Given the description of an element on the screen output the (x, y) to click on. 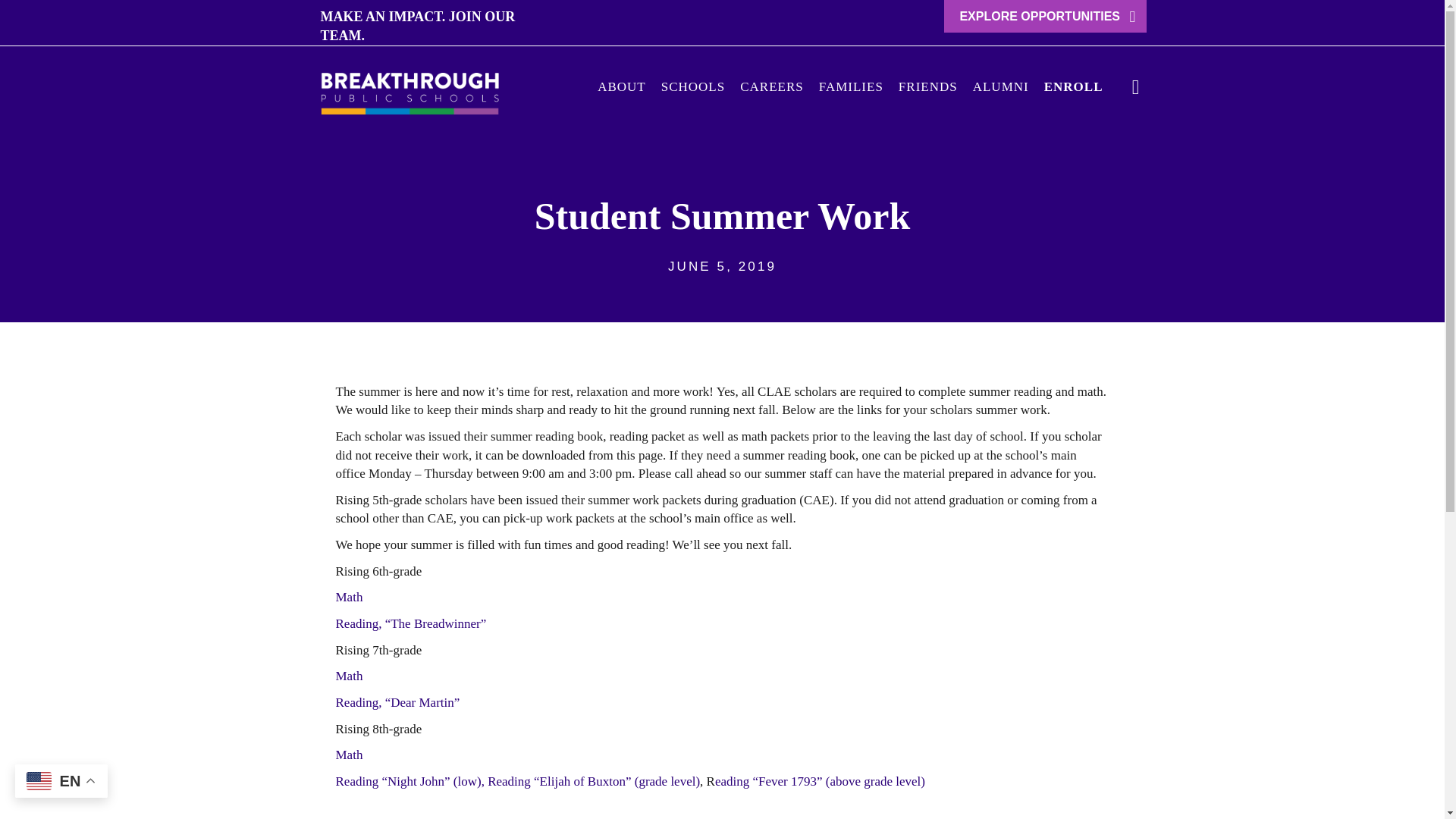
EXPLORE OPPORTUNITIES (1045, 16)
CAREERS (771, 86)
FAMILIES (850, 86)
ABOUT (621, 86)
SCHOOLS (692, 86)
